Given the description of an element on the screen output the (x, y) to click on. 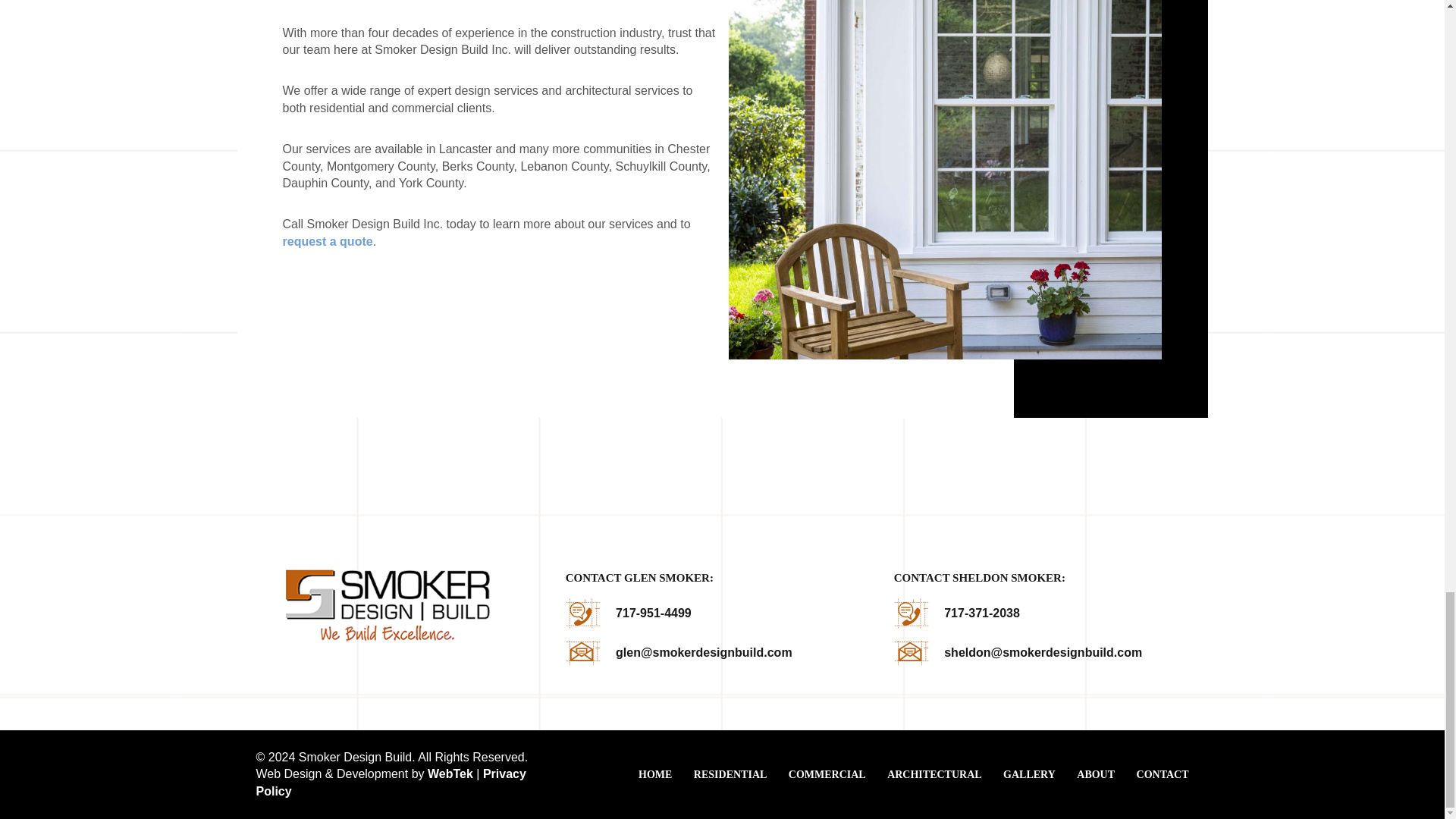
Privacy Policy (390, 781)
request a quote (327, 241)
GALLERY (1029, 774)
COMMERCIAL (827, 774)
RESIDENTIAL (730, 774)
717-951-4499 (653, 612)
HOME (655, 774)
ABOUT (1096, 774)
CONTACT (1163, 774)
ARCHITECTURAL (933, 774)
717-371-2038 (981, 612)
WebTek (450, 773)
